Given the description of an element on the screen output the (x, y) to click on. 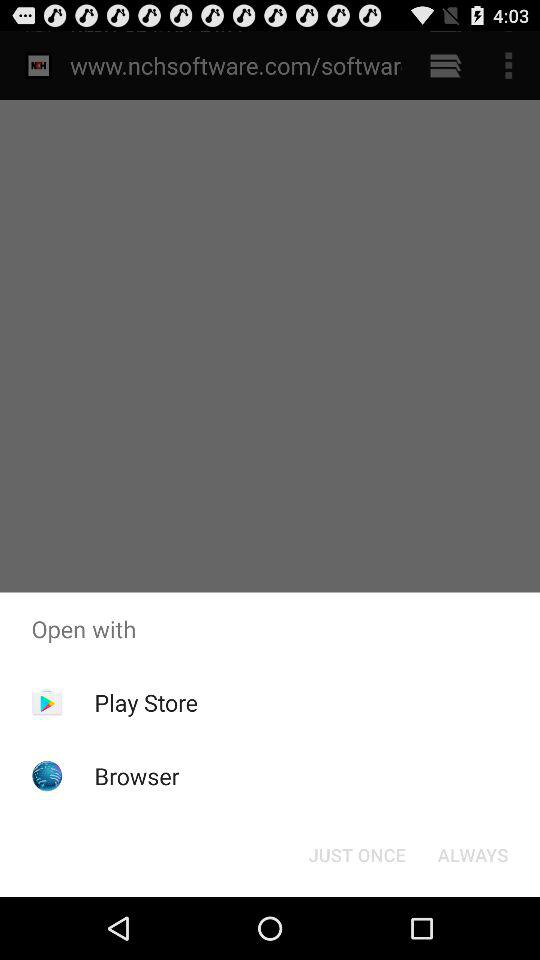
launch button next to always button (356, 854)
